Given the description of an element on the screen output the (x, y) to click on. 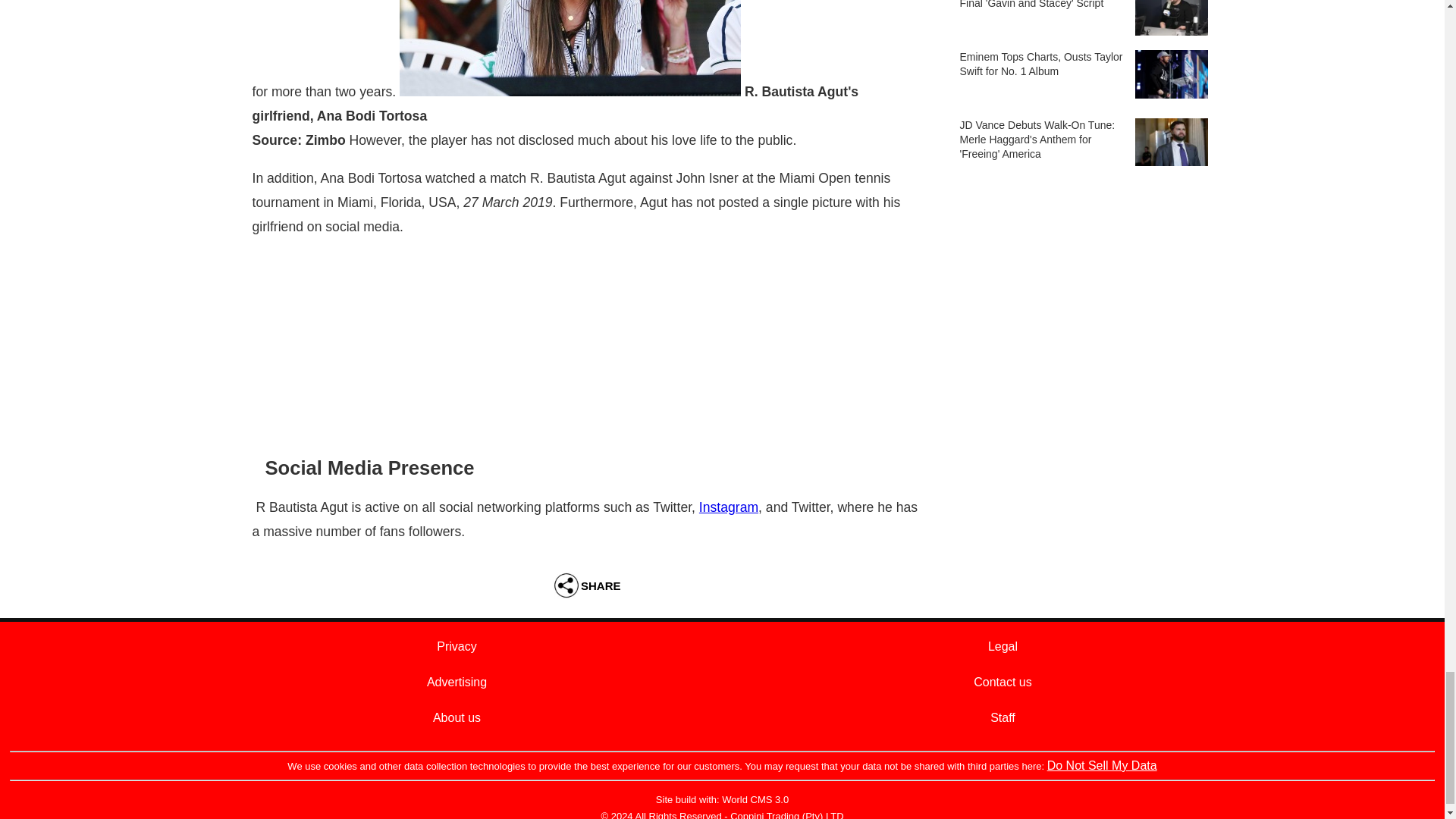
Instagram (728, 507)
